Given the description of an element on the screen output the (x, y) to click on. 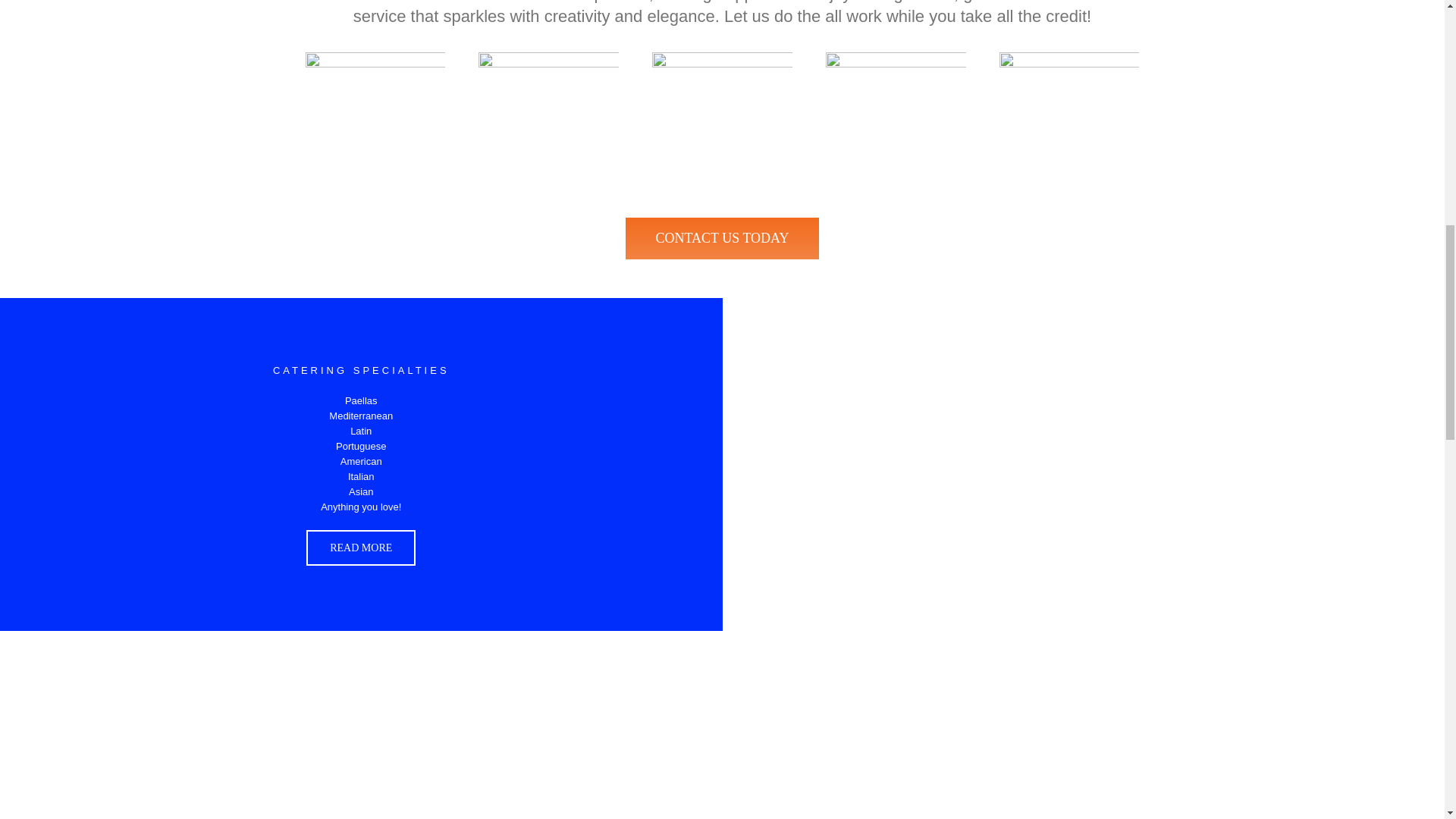
home-specialties-international (374, 122)
home-specialties-soups (895, 122)
CONTACT US TODAY (722, 238)
home-specialties-paellas (722, 122)
home-specialties-vegan (1069, 122)
READ MORE (359, 547)
home-specialties-appetizers (548, 122)
